Given the description of an element on the screen output the (x, y) to click on. 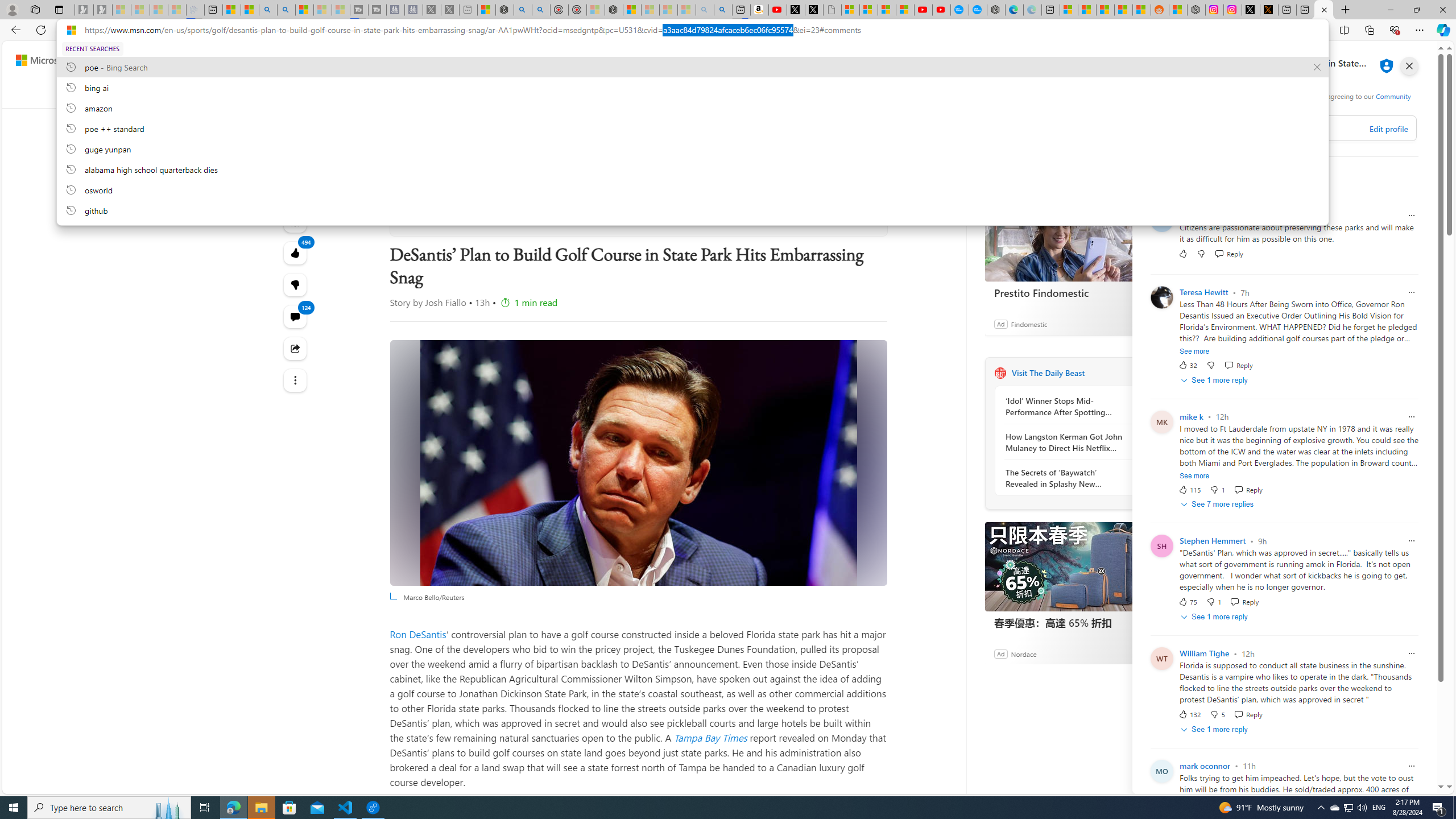
Newsletter Sign Up - Sleeping (102, 9)
132 Like (1189, 714)
Microsoft account | Microsoft Account Privacy Settings (1069, 9)
poe - Search (523, 9)
Marco Bello/Reuters (638, 462)
NCAA WBK (1021, 92)
osworld, recent searches from history (691, 189)
X (814, 9)
anim-content (793, 144)
Report comment (1411, 765)
mike k (1191, 416)
Prestito Findomestic (1069, 292)
